Given the description of an element on the screen output the (x, y) to click on. 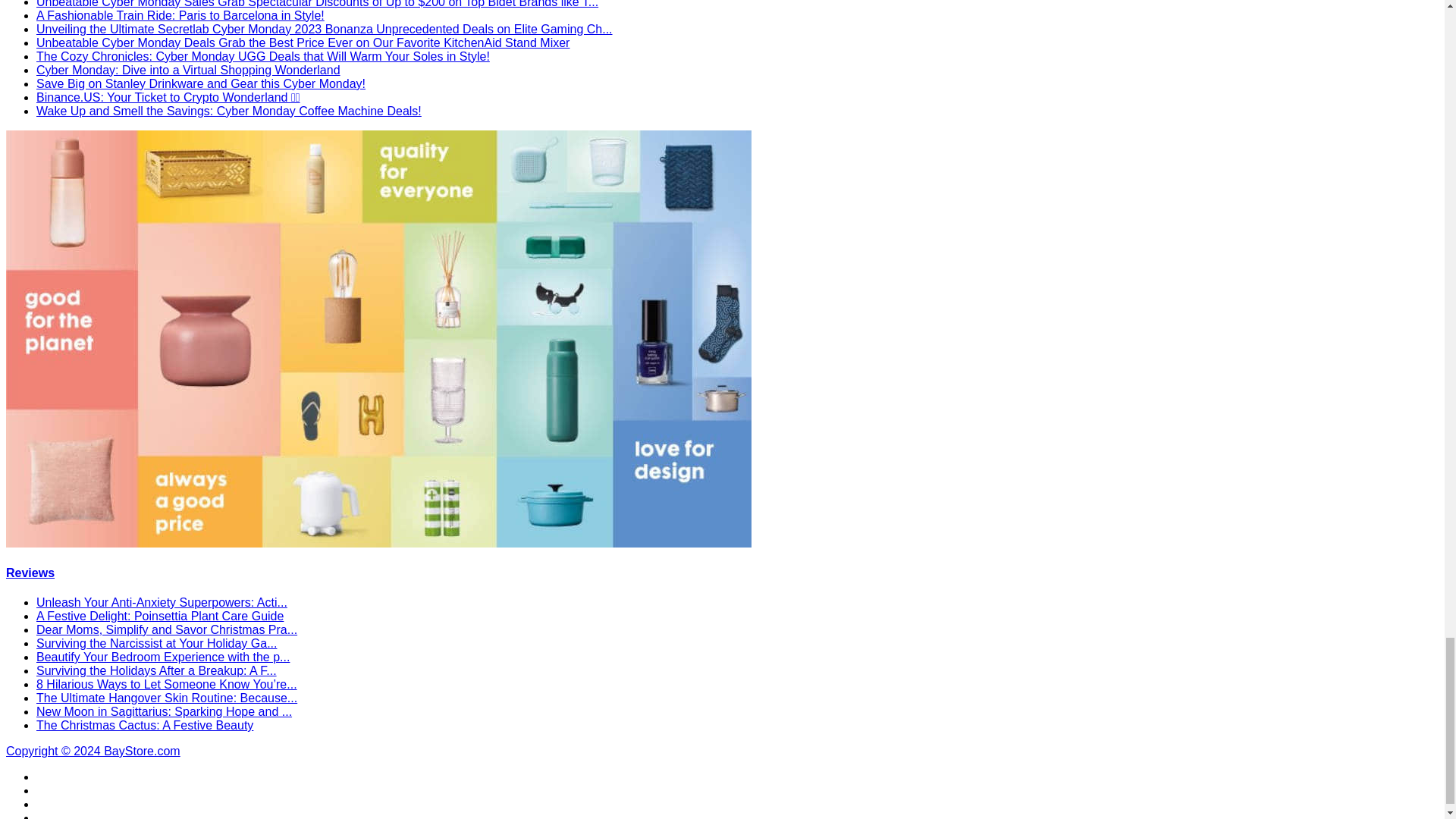
A Fashionable Train Ride: Paris to Barcelona in Style! (180, 15)
